Given the description of an element on the screen output the (x, y) to click on. 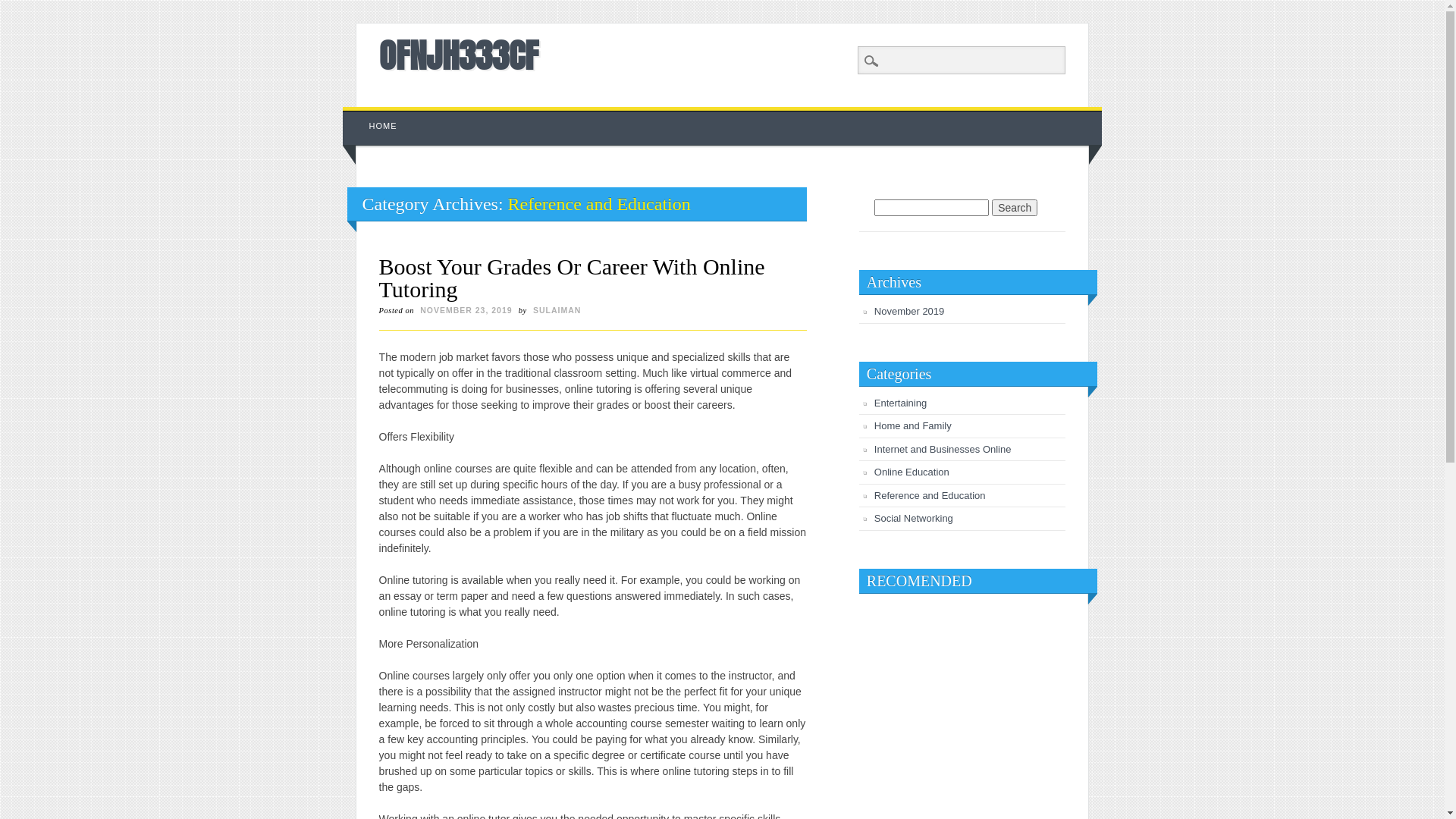
Entertaining Element type: text (900, 402)
Online Education Element type: text (911, 471)
November 2019 Element type: text (909, 310)
NOVEMBER 23, 2019 Element type: text (465, 309)
Reference and Education Element type: text (929, 495)
Search Element type: text (22, 8)
Boost Your Grades Or Career With Online Tutoring Element type: text (572, 277)
Search Element type: text (1014, 207)
HOME Element type: text (383, 125)
Social Networking Element type: text (913, 518)
Internet and Businesses Online Element type: text (942, 449)
OFNJH333CF Element type: text (458, 55)
Home and Family Element type: text (912, 425)
Skip to content Element type: text (377, 114)
SULAIMAN Element type: text (556, 309)
